Given the description of an element on the screen output the (x, y) to click on. 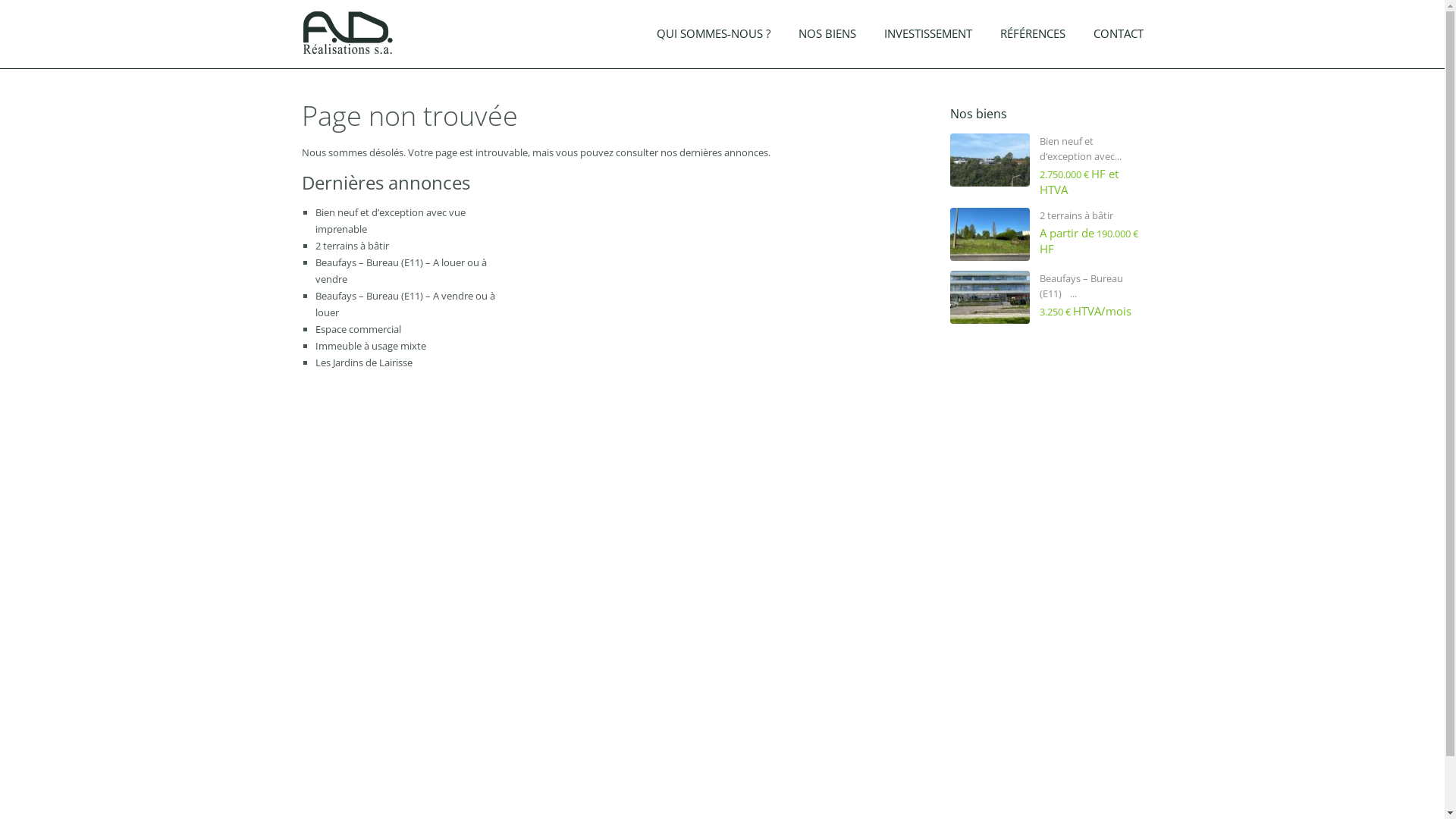
QUI SOMMES-NOUS ? Element type: text (712, 39)
INVESTISSEMENT Element type: text (927, 39)
Espace commercial Element type: text (358, 328)
Les Jardins de Lairisse Element type: text (363, 362)
CONTACT Element type: text (1117, 39)
NOS BIENS Element type: text (827, 39)
